Given the description of an element on the screen output the (x, y) to click on. 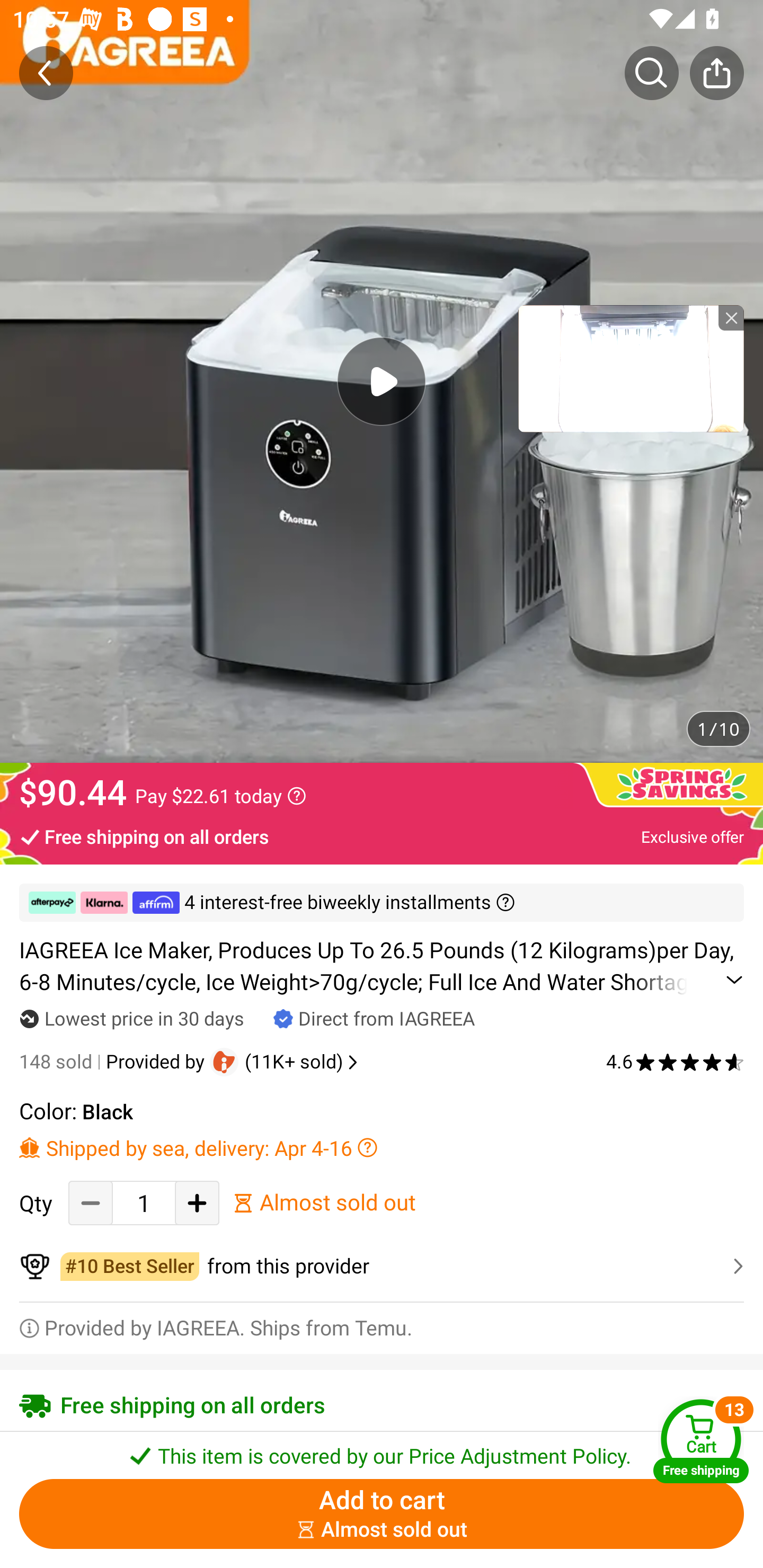
Back (46, 72)
Share (716, 72)
tronplayer_view (631, 368)
Pay $22.61 today   (220, 795)
Free shipping on all orders Exclusive offer (381, 836)
￼ ￼ ￼ 4 interest-free biweekly installments ￼ (381, 902)
148 sold Provided by  (114, 1061)
4.6 (674, 1061)
Shipped by sea, delivery: Apr 4-16 (381, 1147)
Decrease Quantity Button (90, 1202)
1 (143, 1202)
Add Quantity button (196, 1202)
￼￼from this provider (381, 1265)
Cart Free shipping Cart (701, 1440)
Add to cart ￼￼Almost sold out (381, 1513)
